Given the description of an element on the screen output the (x, y) to click on. 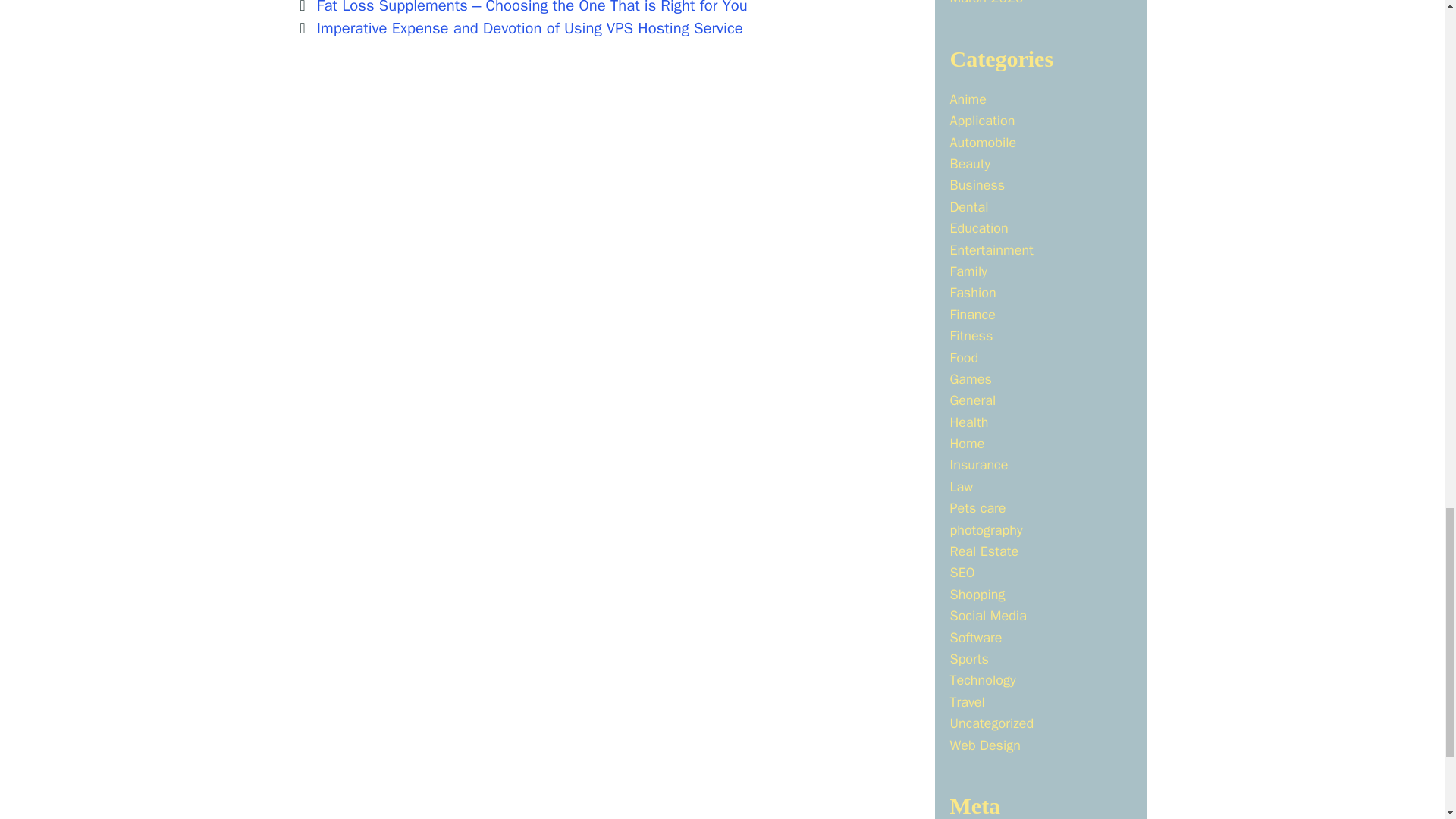
Imperative Expense and Devotion of Using VPS Hosting Service (529, 27)
Next (519, 27)
Previous (521, 7)
